Given the description of an element on the screen output the (x, y) to click on. 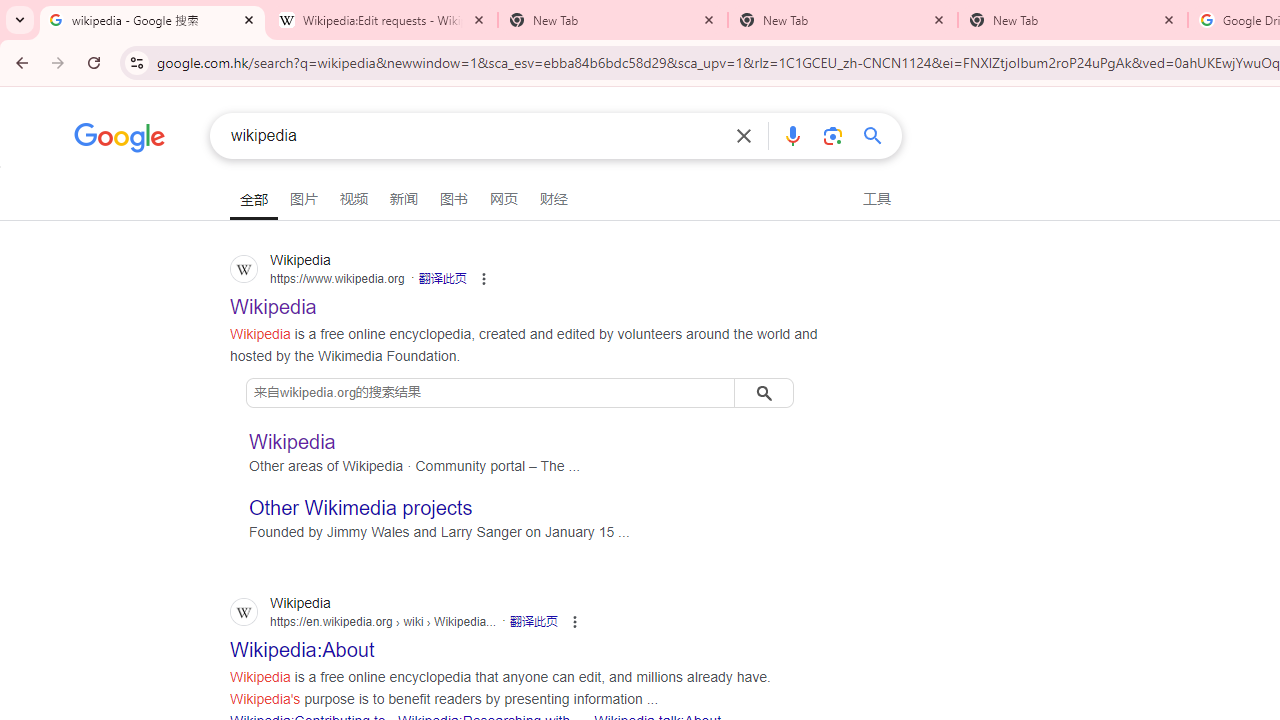
Search tabs (20, 20)
Back (19, 62)
System (10, 11)
Google (120, 139)
New Tab (842, 20)
Wikipedia:Edit requests - Wikipedia (382, 20)
Reload (93, 62)
